Given the description of an element on the screen output the (x, y) to click on. 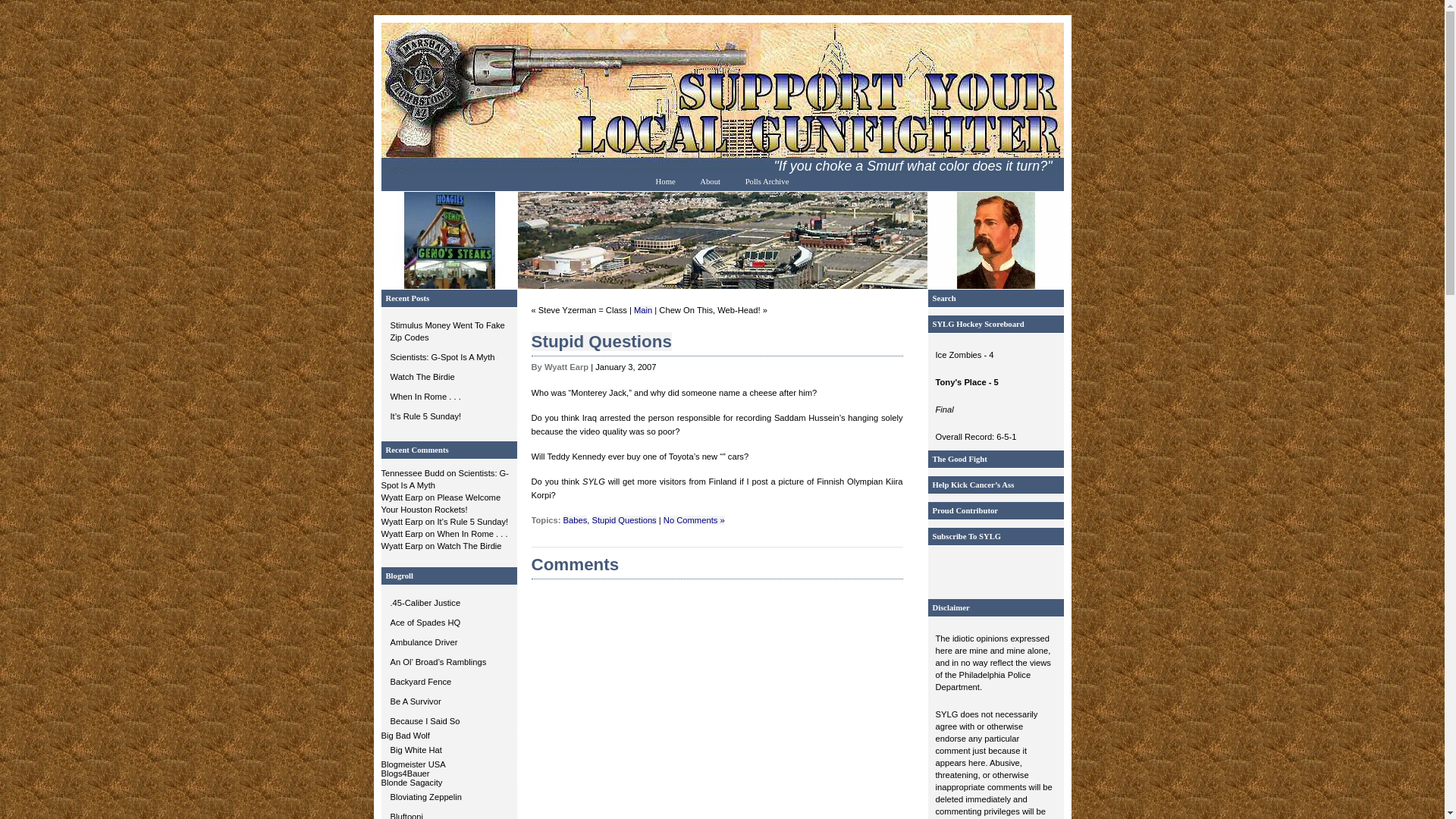
Polls Archive (766, 181)
Bloviating Zeppelin (448, 796)
Scientists: G-Spot Is A Myth (448, 356)
When In Rome . . . (448, 396)
Watch The Birdie (448, 376)
Master Of All Morons (448, 622)
Because I Said So (448, 721)
Good For What Ails Ya (448, 641)
Be A Survivor (448, 701)
Wyatt Earp (401, 533)
When In Rome . . . (448, 396)
Stimulus Money Went To Fake Zip Codes (448, 331)
Justice Is Served! (448, 602)
Bluftooni (448, 812)
Please Welcome Your Houston Rockets! (440, 503)
